Given the description of an element on the screen output the (x, y) to click on. 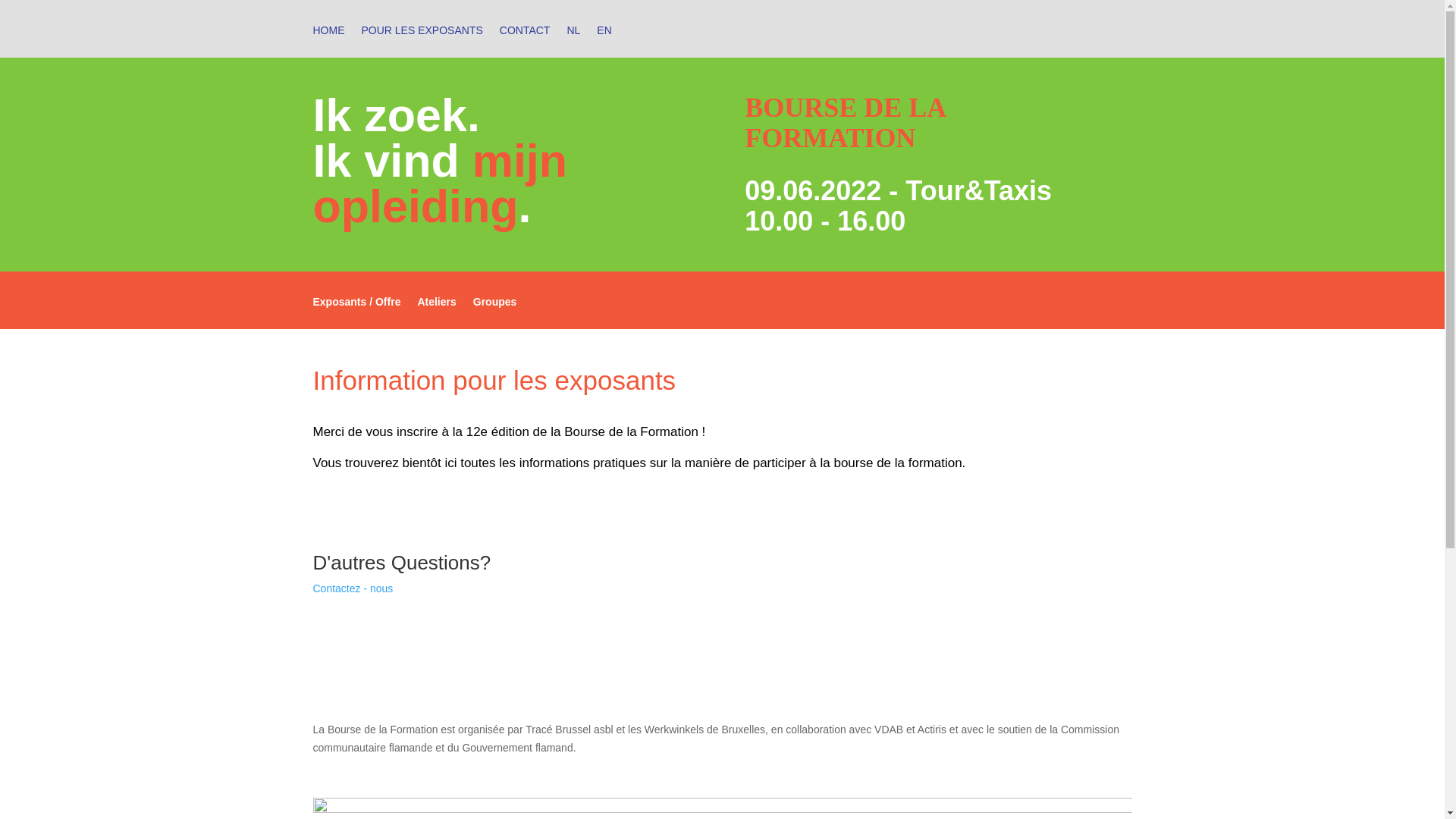
HOME Element type: text (328, 41)
NL Element type: text (573, 41)
CONTACT Element type: text (524, 41)
EN Element type: text (603, 41)
POUR LES EXPOSANTS Element type: text (421, 41)
Ateliers Element type: text (436, 312)
Contactez - nous Element type: text (352, 588)
Groupes Element type: text (495, 312)
Exposants / Offre Element type: text (356, 312)
